Given the description of an element on the screen output the (x, y) to click on. 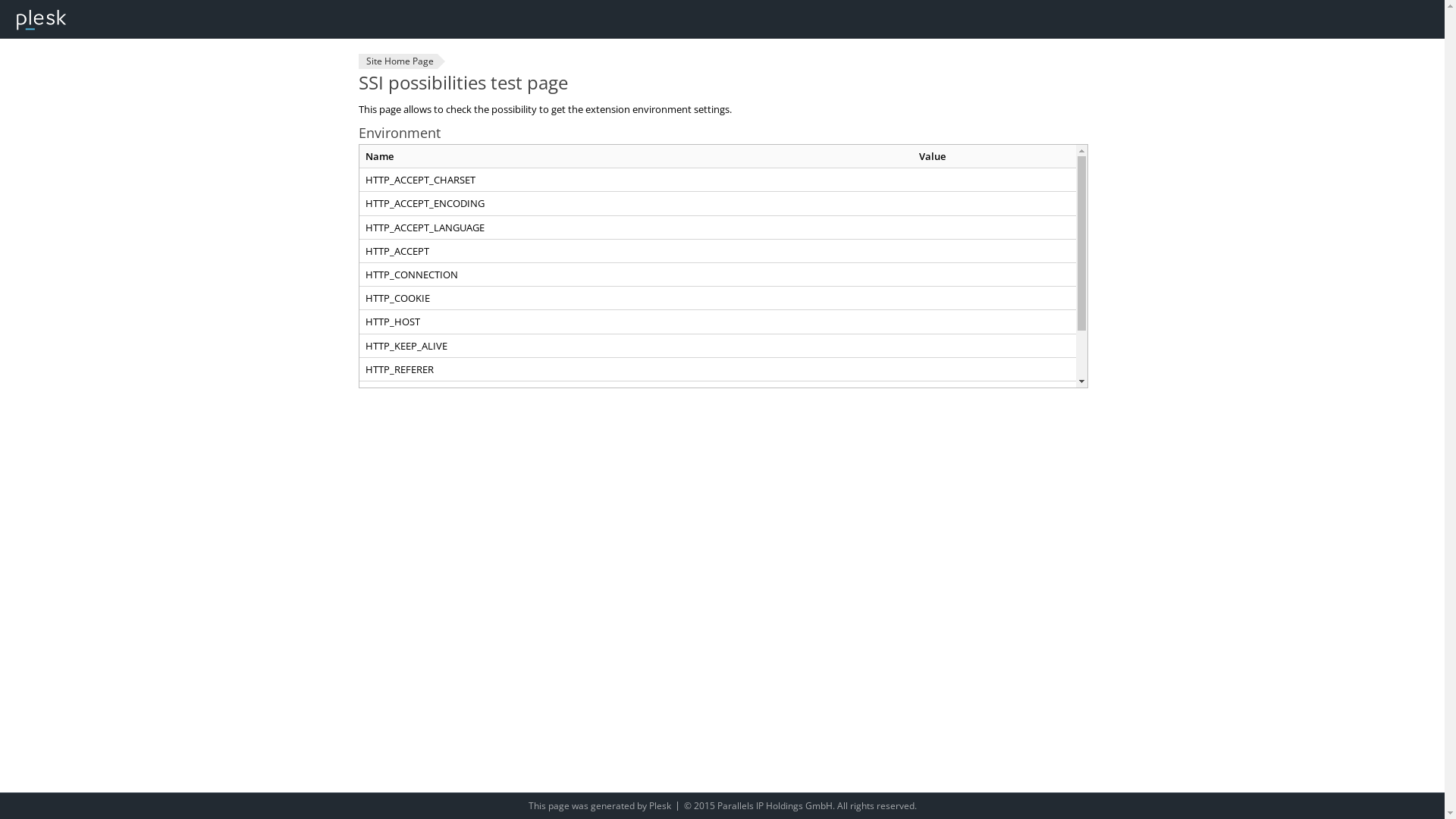
Site Home Page Element type: text (396, 61)
Plesk Element type: text (660, 805)
